Given the description of an element on the screen output the (x, y) to click on. 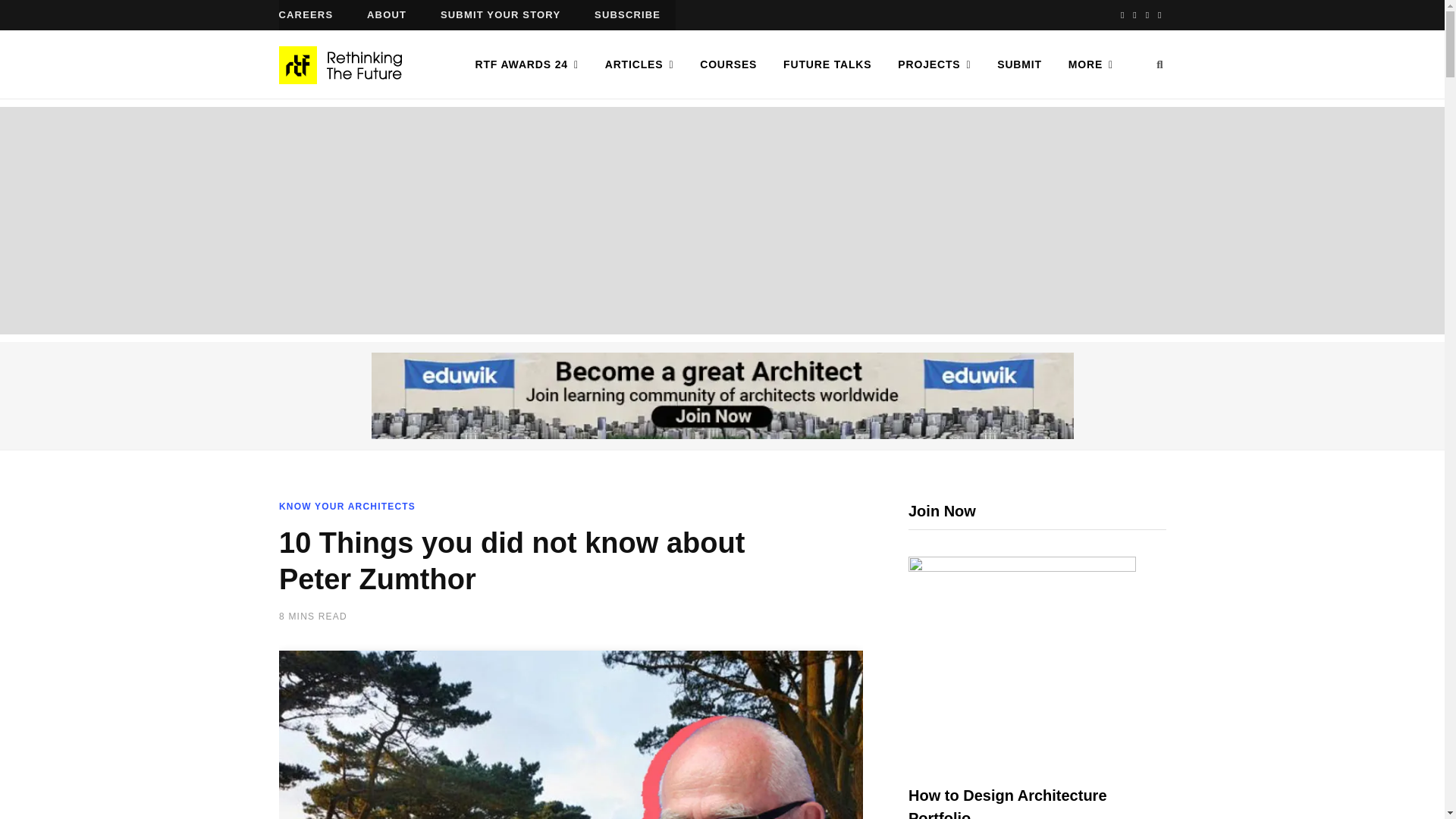
RTF AWARDS 24 (526, 64)
SUBMIT YOUR STORY (500, 15)
CAREERS (306, 15)
10 Things you did not know about Peter Zumthor (571, 734)
SUBSCRIBE (627, 15)
ABOUT (387, 15)
